Given the description of an element on the screen output the (x, y) to click on. 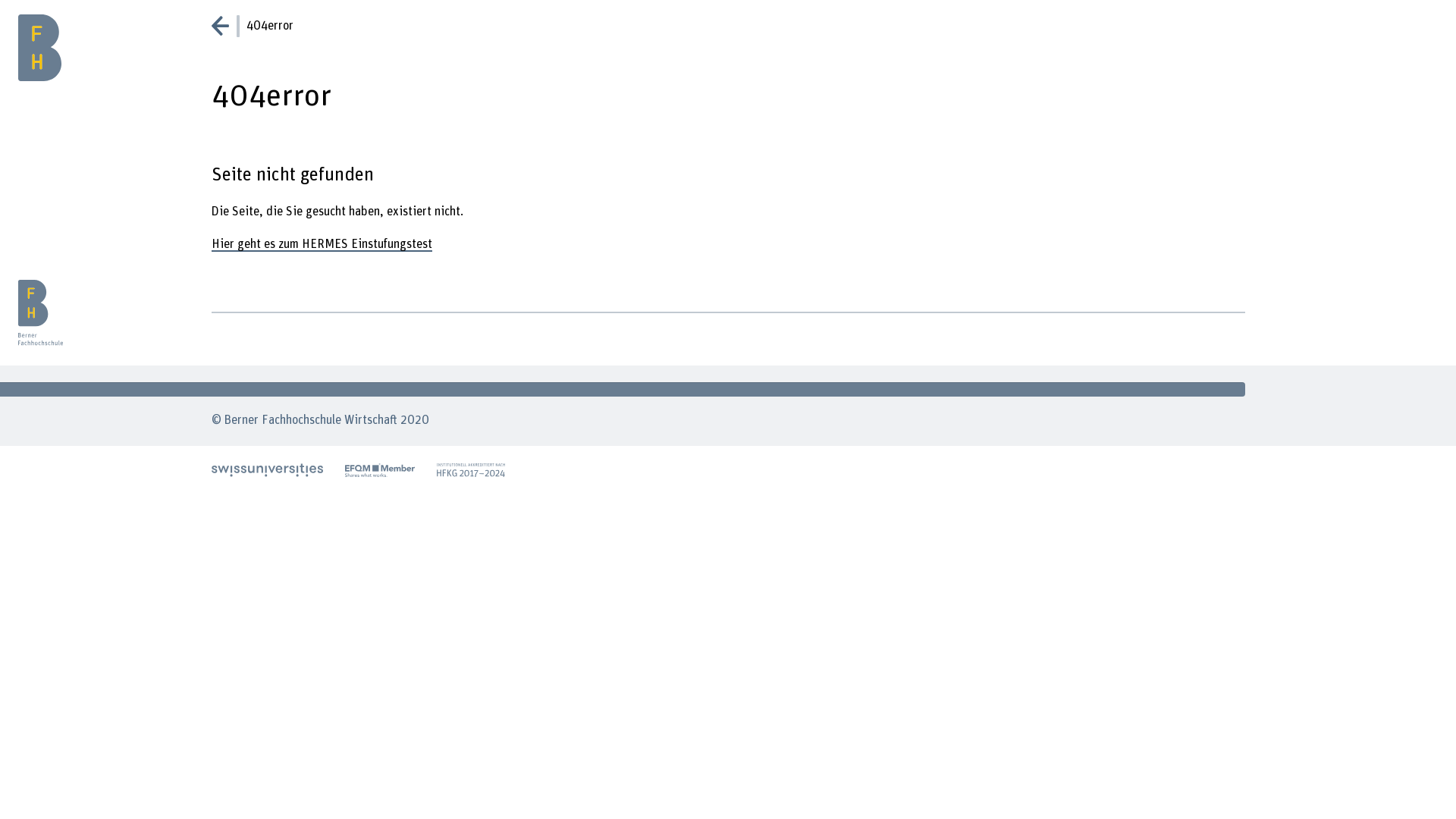
Berner Fachhochschule Wirtschaft Element type: hover (60, 33)
Hier geht es zum HERMES Einstufungstest Element type: text (320, 244)
Swissuniversities Element type: hover (266, 470)
HEdA Element type: hover (470, 470)
Berner Fachhochschule Wirtschaft Element type: hover (47, 312)
EFQM Member Element type: hover (379, 470)
